Given the description of an element on the screen output the (x, y) to click on. 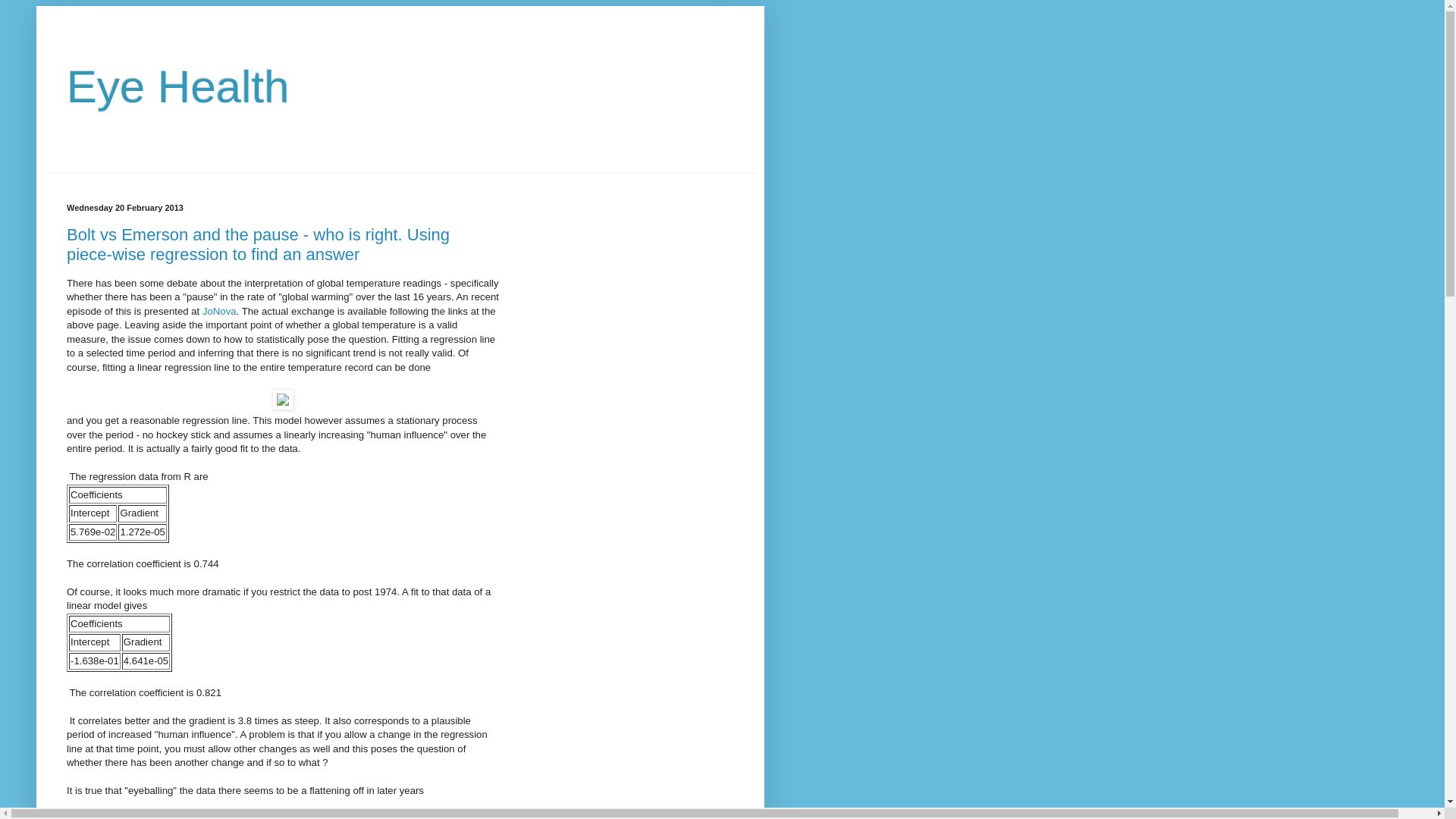
JoNova Element type: text (219, 310)
Eye Health Element type: text (177, 86)
